Given the description of an element on the screen output the (x, y) to click on. 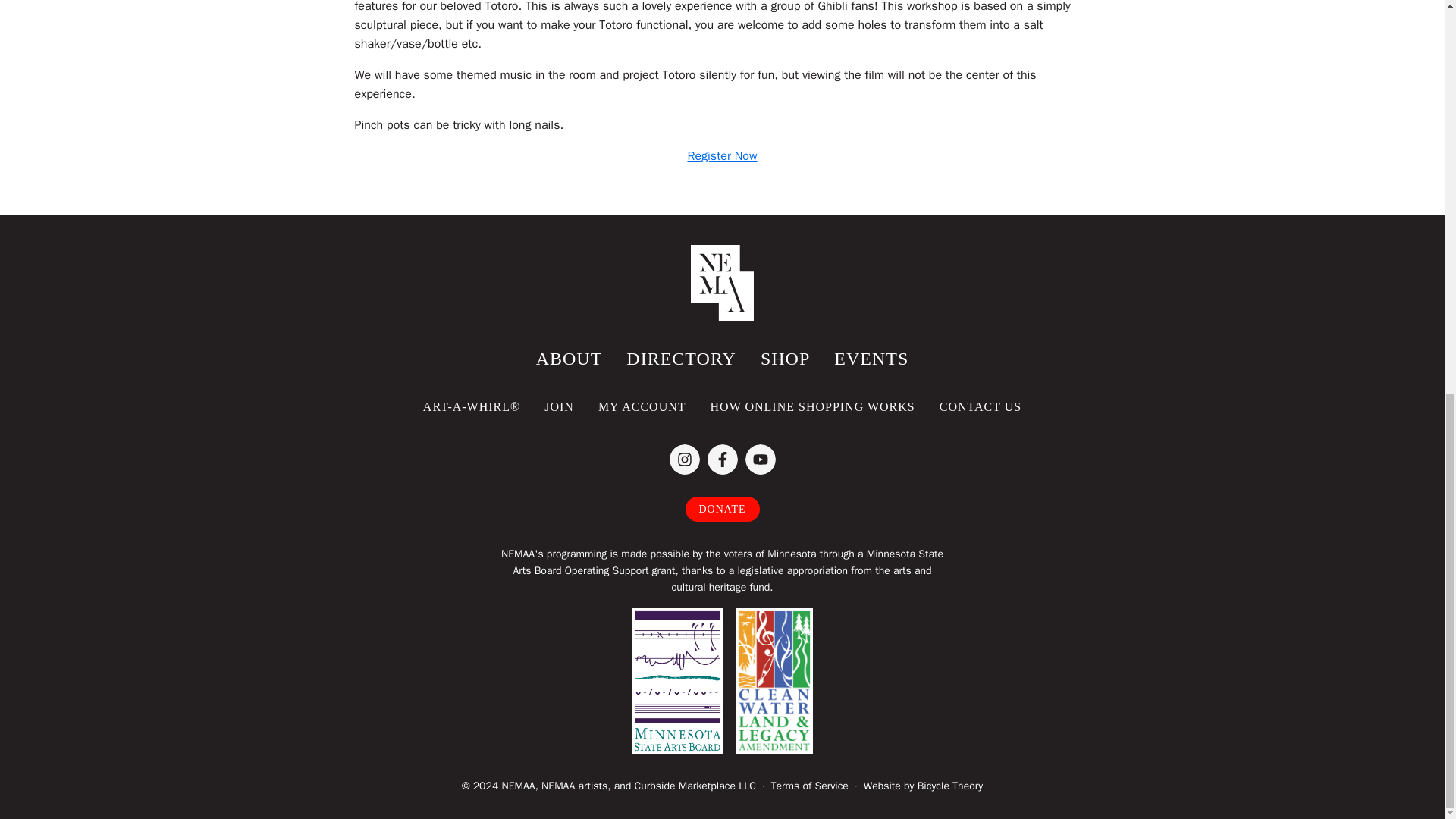
HOW ONLINE SHOPPING WORKS (812, 406)
Instagram (683, 459)
EVENTS (871, 359)
DONATE (722, 508)
DIRECTORY (681, 359)
Facebook (721, 459)
MY ACCOUNT (642, 406)
YouTube (759, 459)
Register Now (722, 155)
SHOP (785, 359)
CONTACT US (980, 406)
JOIN (559, 406)
ABOUT (569, 359)
